Given the description of an element on the screen output the (x, y) to click on. 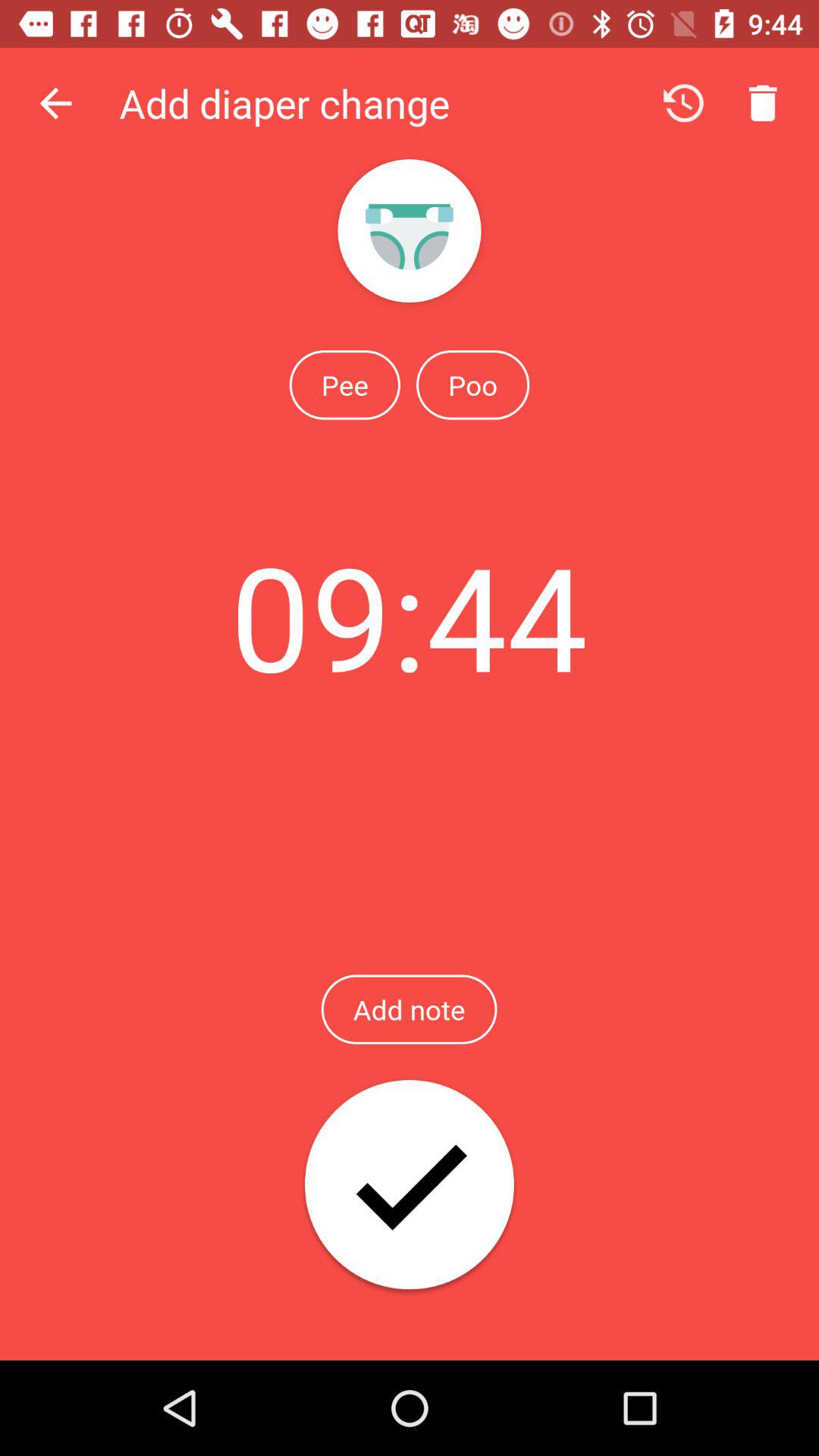
launch the item next to add diaper change (55, 103)
